Given the description of an element on the screen output the (x, y) to click on. 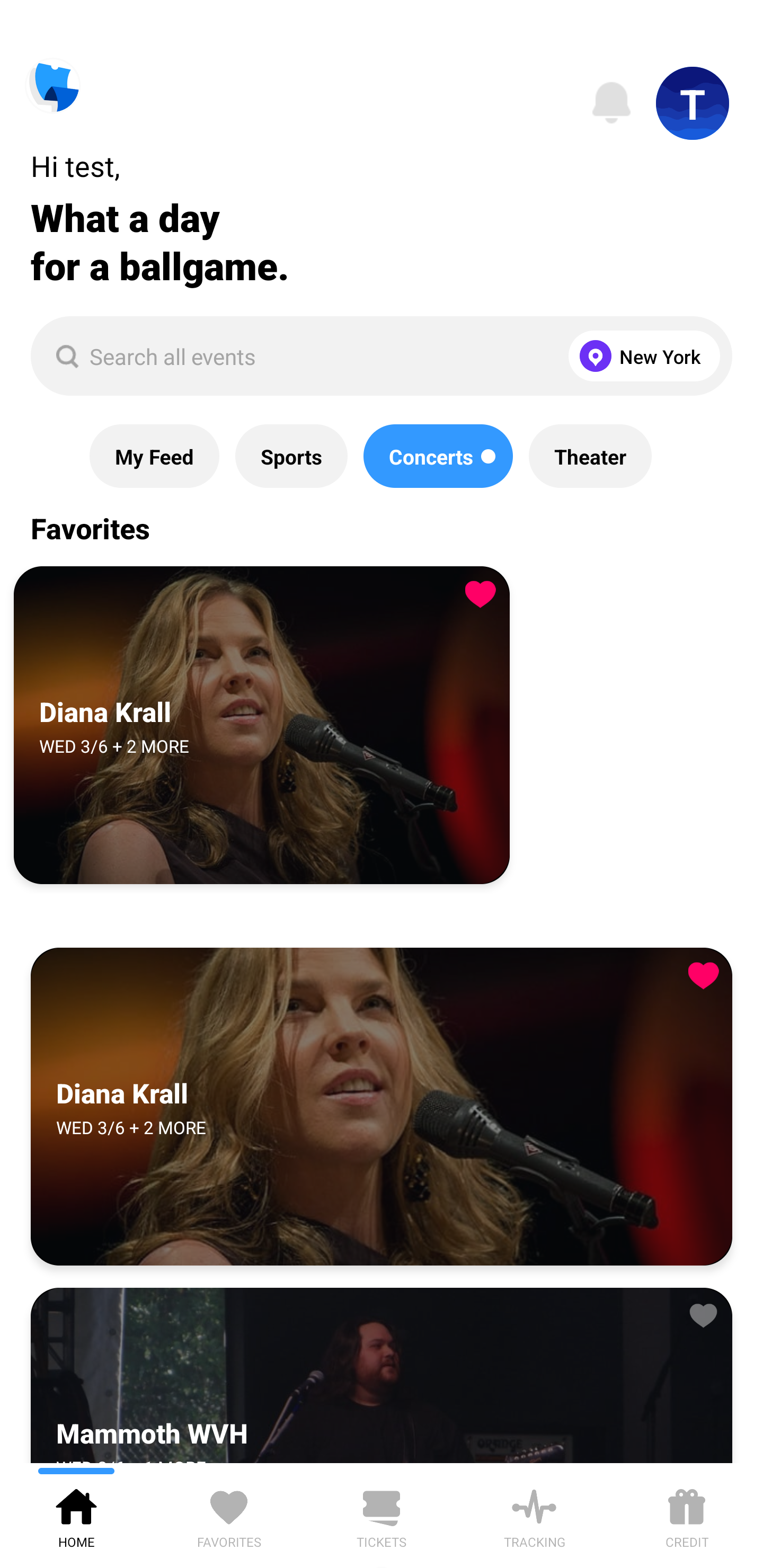
T (692, 103)
New York (640, 355)
My Feed (154, 455)
Sports (291, 455)
Concerts (437, 455)
Theater (589, 455)
HOME (76, 1515)
FAVORITES (228, 1515)
TICKETS (381, 1515)
TRACKING (533, 1515)
CREDIT (686, 1515)
